Given the description of an element on the screen output the (x, y) to click on. 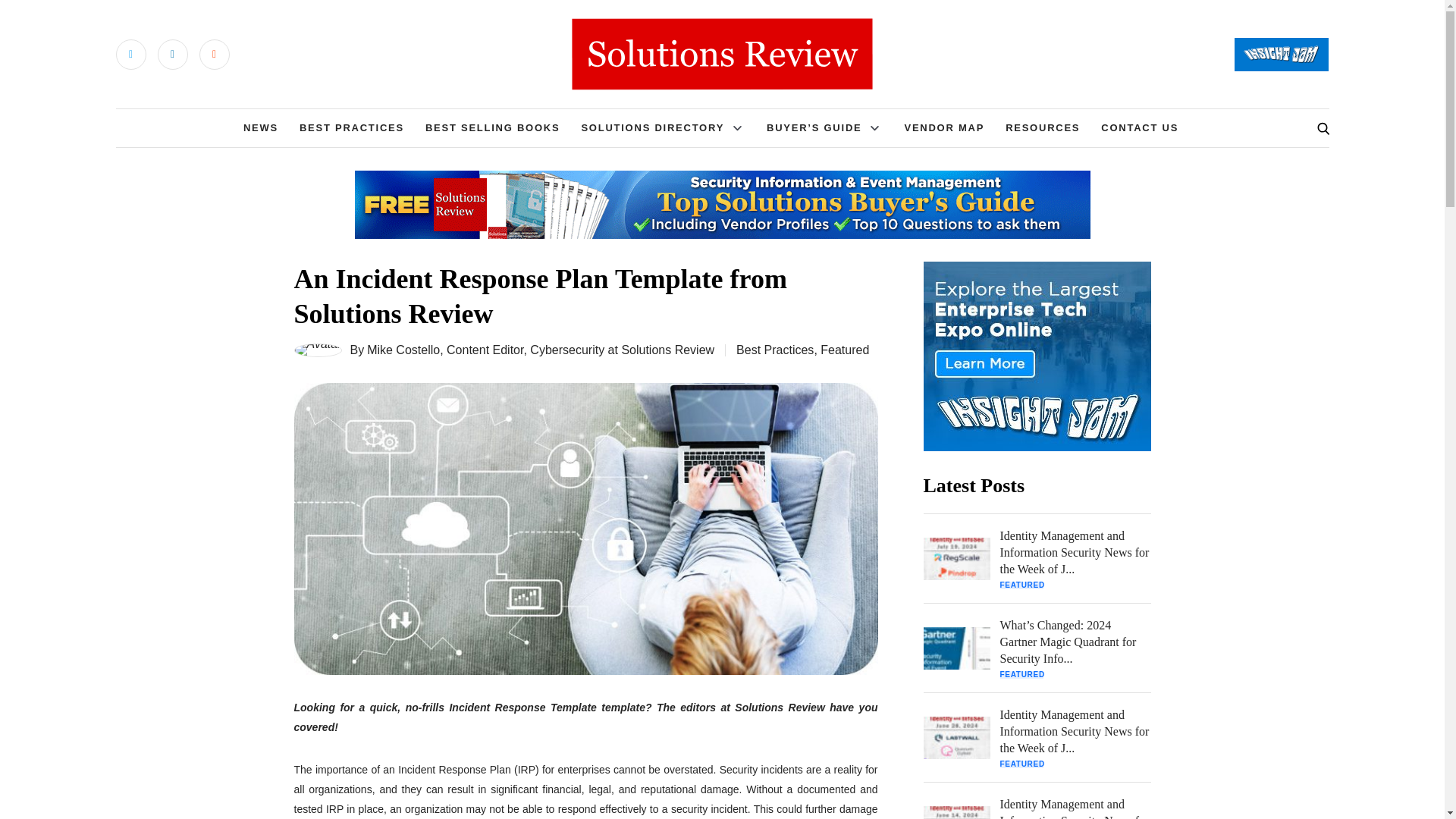
Mike Costello (402, 350)
SOLUTIONS DIRECTORY (651, 127)
VENDOR MAP (944, 127)
Insight Jam Ad (1037, 356)
CONTACT US (1138, 127)
Featured (845, 349)
Best Practices (774, 349)
NEWS (260, 127)
BEST PRACTICES (351, 127)
BEST SELLING BOOKS (492, 127)
RESOURCES (1043, 127)
